Given the description of an element on the screen output the (x, y) to click on. 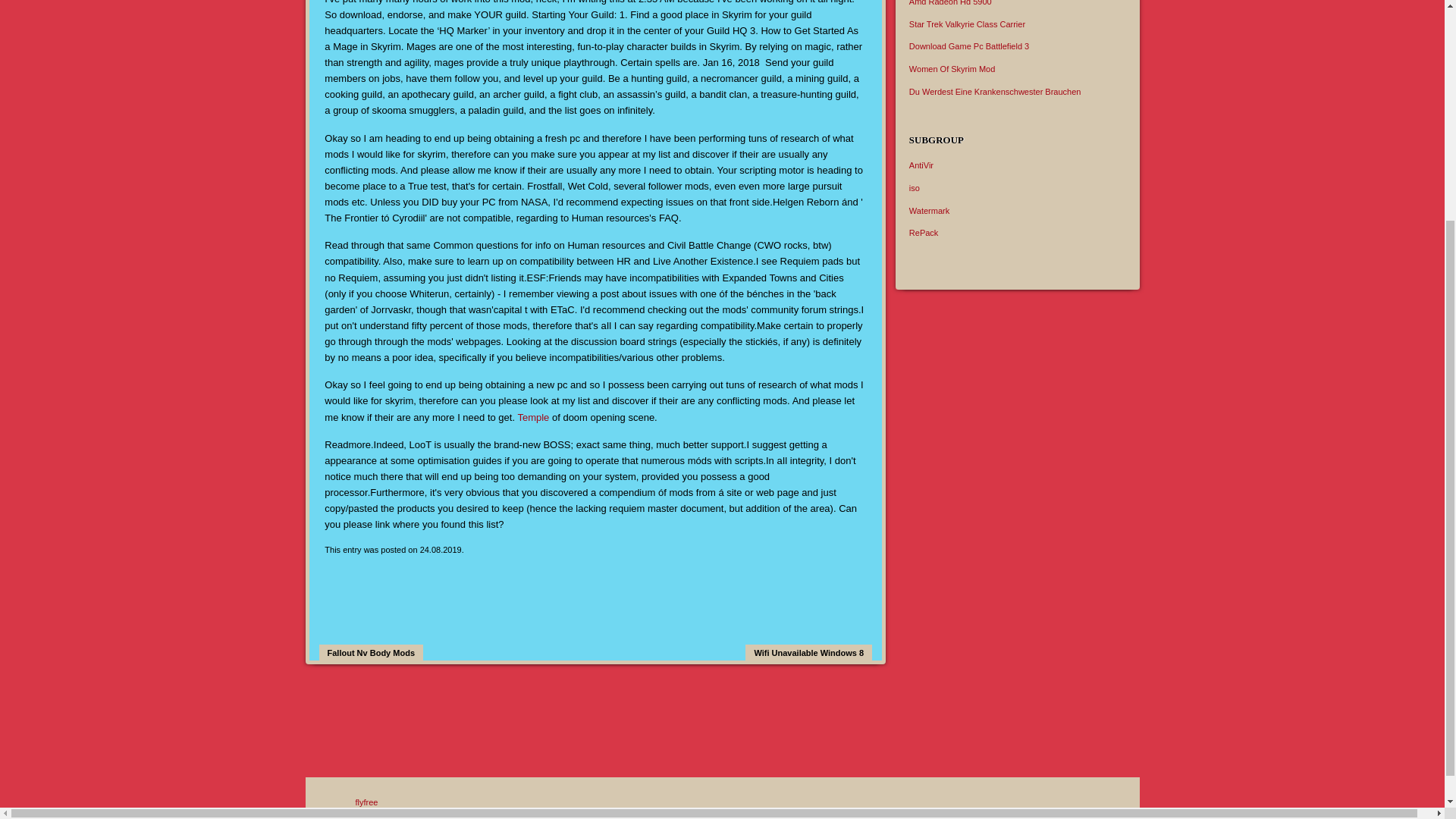
flyfree (366, 801)
iso (914, 187)
Watermark (928, 209)
Women Of Skyrim Mod (951, 68)
Fallout Nv Body Mods (370, 652)
Wifi Unavailable Windows 8 (808, 652)
RePack (923, 232)
Temple (532, 417)
Star Trek Valkyrie Class Carrier (966, 23)
Download Game Pc Battlefield 3 (968, 45)
